Given the description of an element on the screen output the (x, y) to click on. 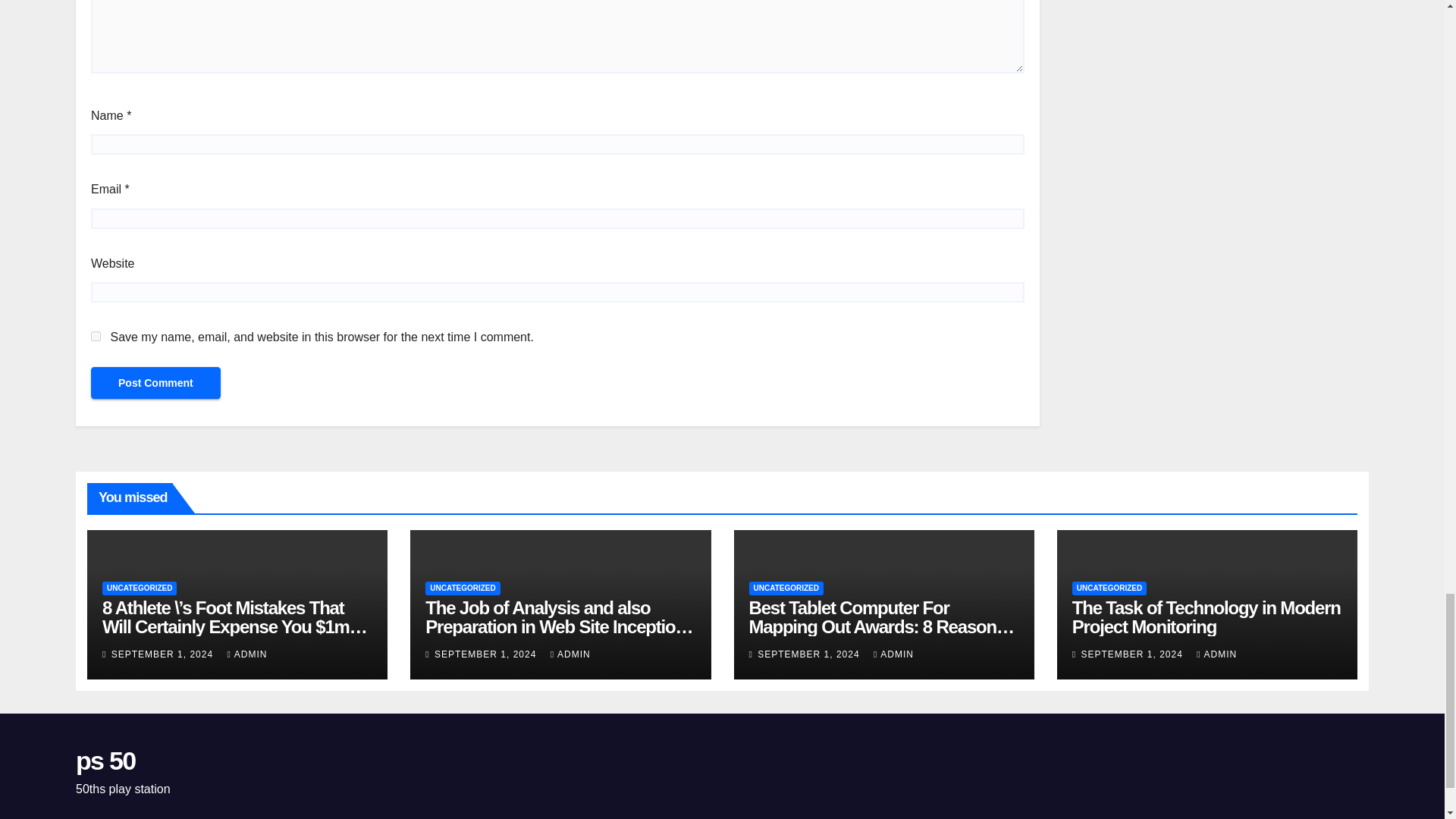
yes (95, 336)
Post Comment (155, 382)
